Given the description of an element on the screen output the (x, y) to click on. 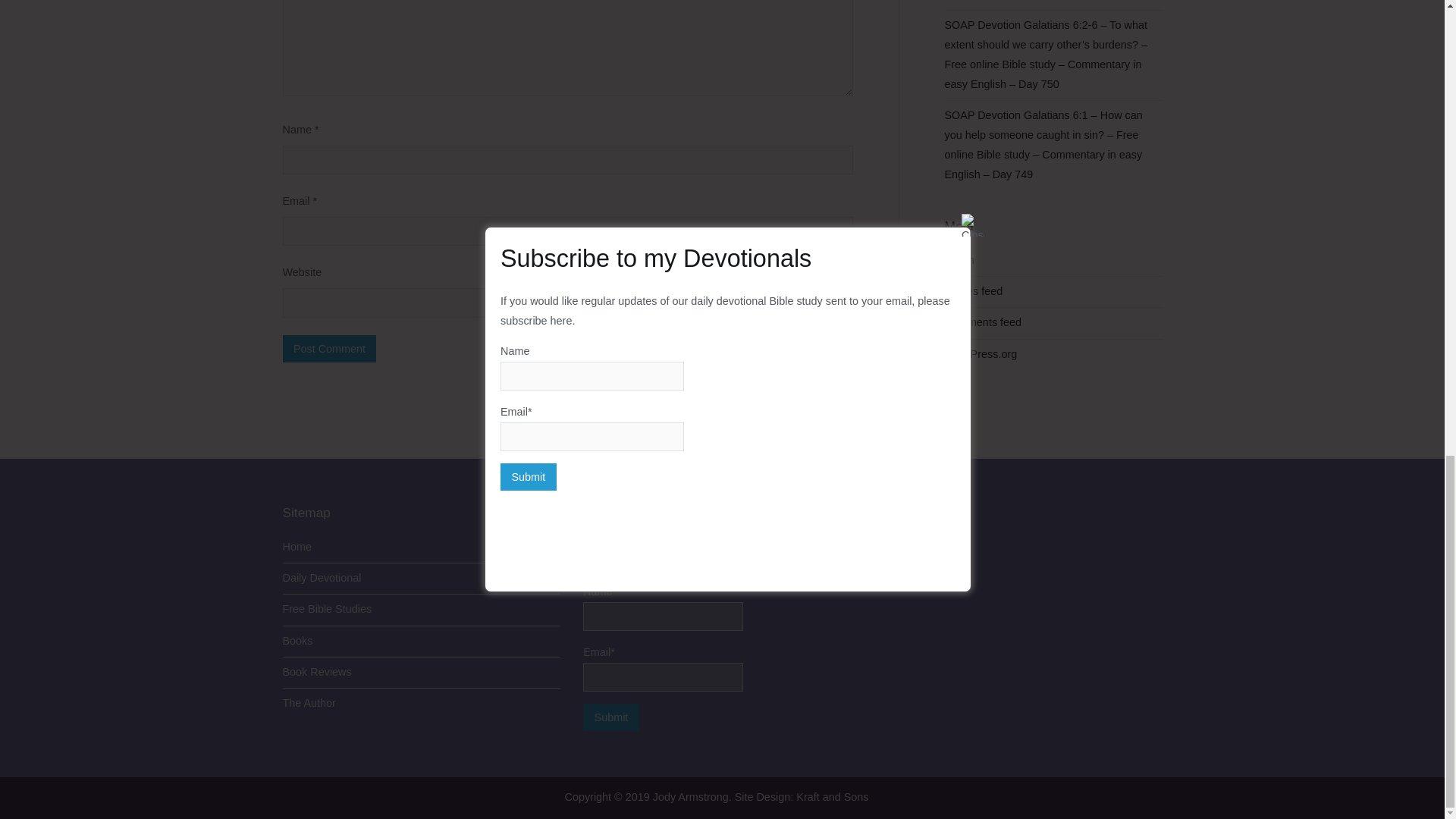
Post Comment (328, 348)
Comments feed (983, 322)
Submit (611, 717)
Home (421, 547)
WordPress.org (980, 354)
Books (421, 641)
Log in (959, 260)
Daily Devotional (421, 578)
Entries feed (973, 291)
The Author (421, 703)
